Given the description of an element on the screen output the (x, y) to click on. 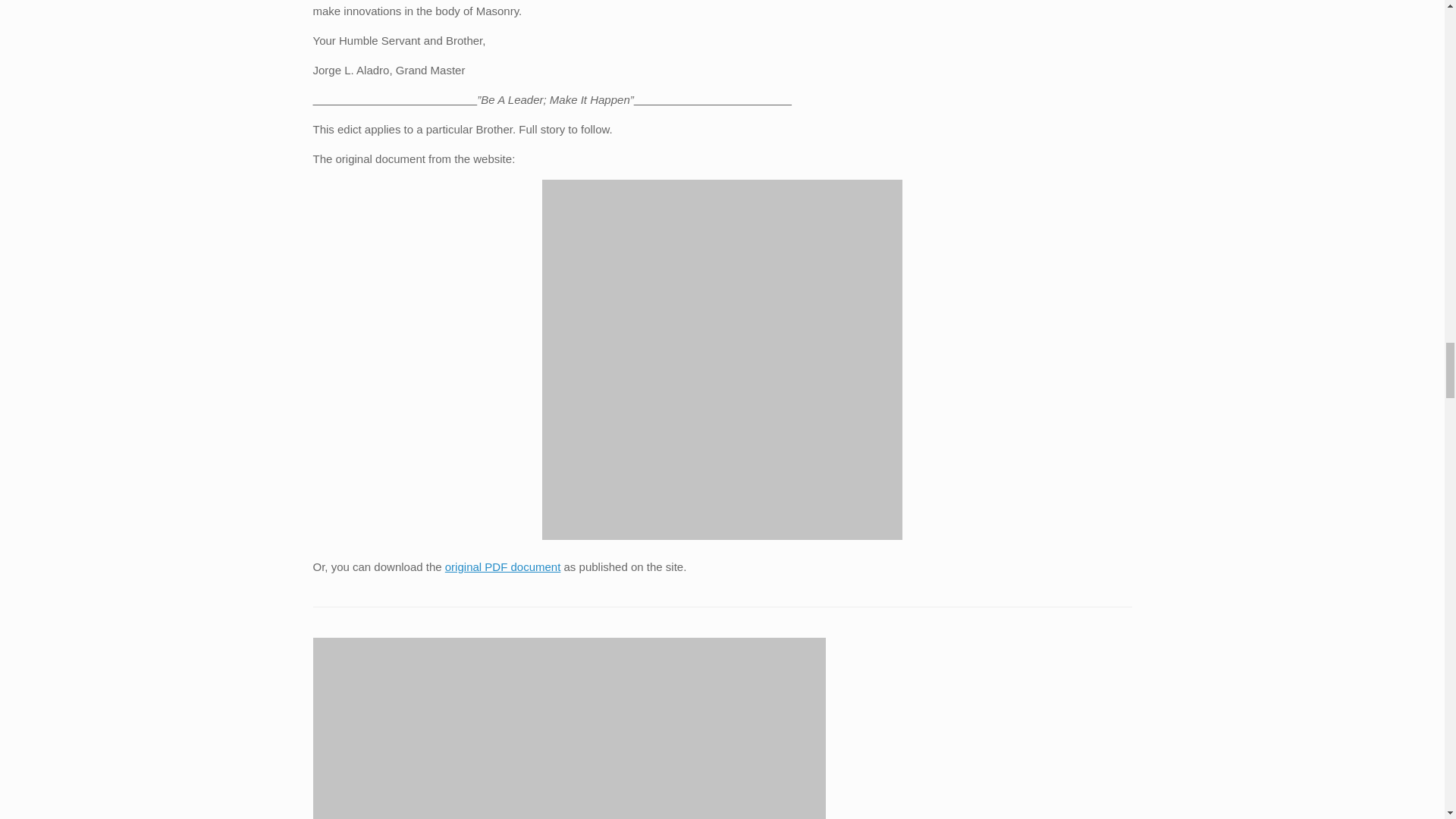
original PDF document (502, 566)
